Given the description of an element on the screen output the (x, y) to click on. 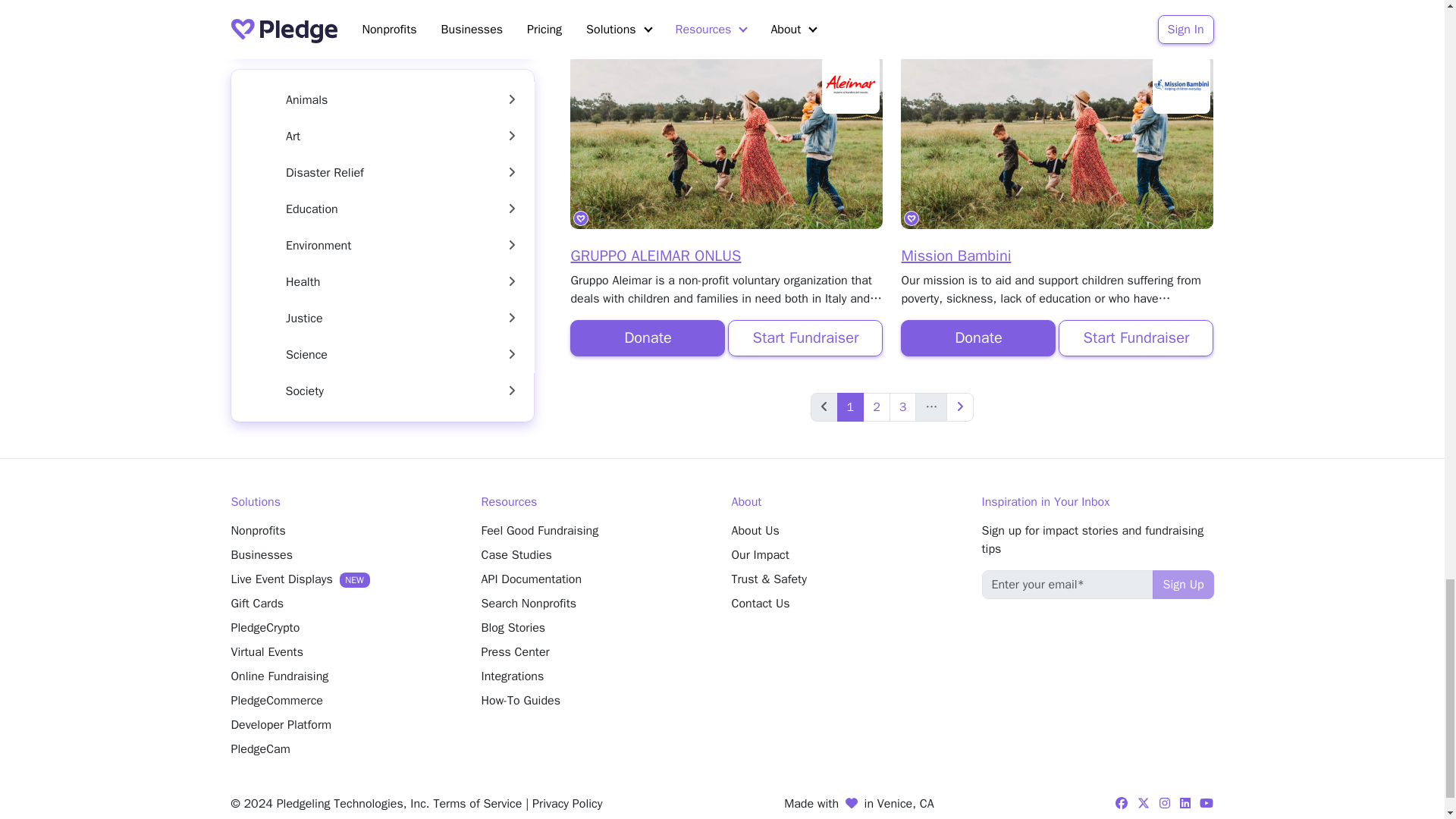
Sign Up (1182, 584)
